Given the description of an element on the screen output the (x, y) to click on. 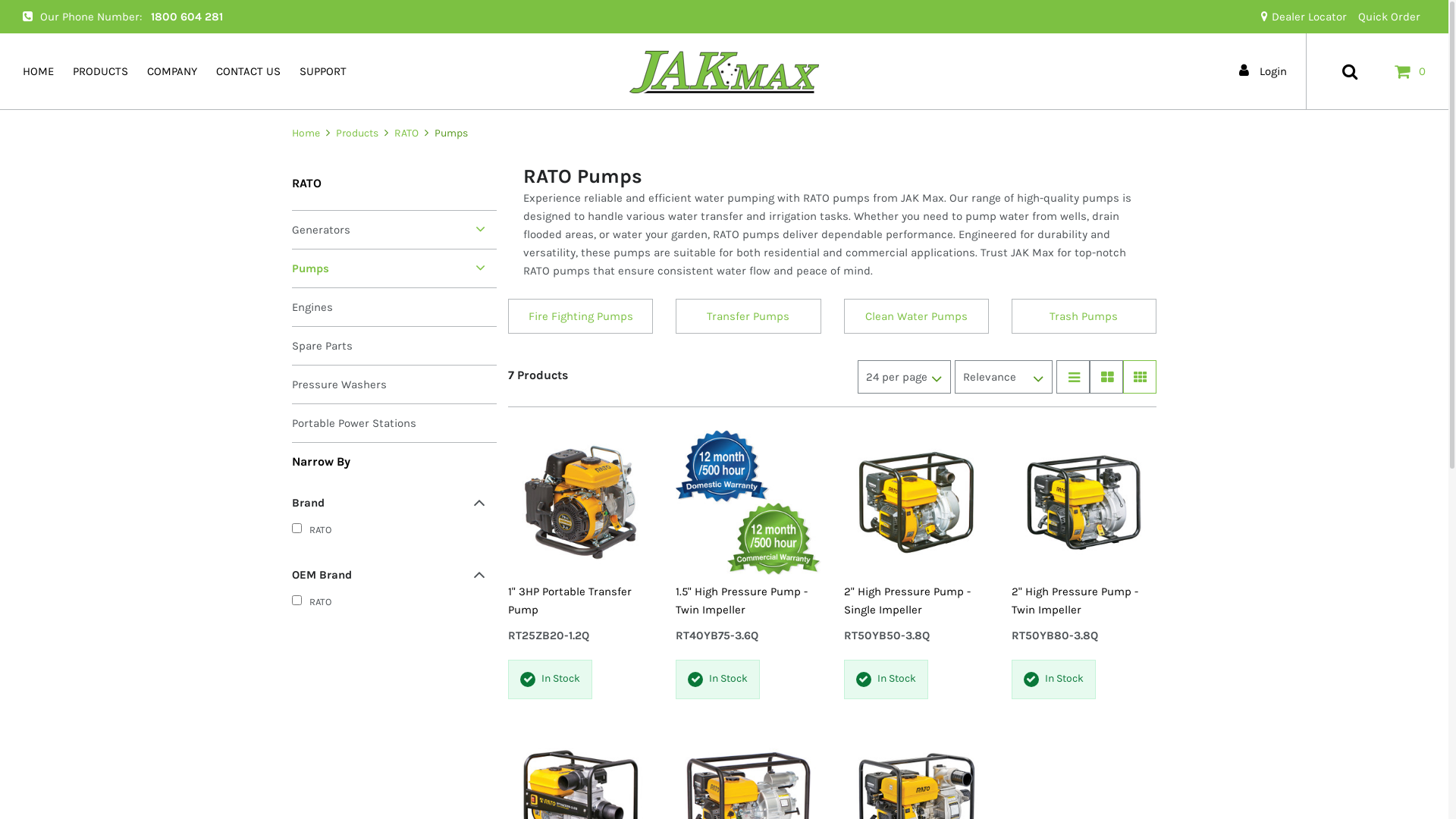
JAK Max Element type: hover (724, 71)
1800 604 281 Element type: text (186, 16)
Search Element type: hover (1349, 71)
1.5" High Pressure Pump - Twin Impeller Element type: text (747, 600)
Quick Order Element type: text (1388, 16)
Home Element type: text (306, 132)
0 Element type: text (1411, 70)
List Element type: hover (1072, 376)
COMPANY Element type: text (171, 70)
Trash Pumps Element type: text (1083, 315)
PRODUCTS Element type: text (100, 70)
1" 3HP Portable Transfer Pump Element type: text (580, 600)
Clean Water Pumps Element type: text (915, 315)
RATO Element type: text (388, 531)
Fire Fighting Pumps Element type: text (580, 315)
Grid Element type: hover (1139, 376)
CONTACT US Element type: text (248, 70)
Login Element type: text (1266, 70)
OEM Brand Element type: text (388, 574)
2" High Pressure Pump - Twin Impeller Element type: text (1083, 600)
Pressure Washers Element type: text (393, 384)
RATO Element type: text (388, 603)
SUPPORT Element type: text (322, 70)
Engines Element type: text (393, 307)
RATO Element type: text (406, 132)
HOME Element type: text (38, 70)
Portable Power Stations Element type: text (393, 423)
Products Element type: text (356, 132)
Table Element type: hover (1106, 376)
Transfer Pumps Element type: text (747, 315)
Spare Parts Element type: text (393, 345)
Pumps Element type: text (393, 268)
Generators Element type: text (393, 229)
Brand Element type: text (388, 502)
2" High Pressure Pump - Single Impeller Element type: text (915, 600)
Dealer Locator Element type: text (1303, 16)
